Given the description of an element on the screen output the (x, y) to click on. 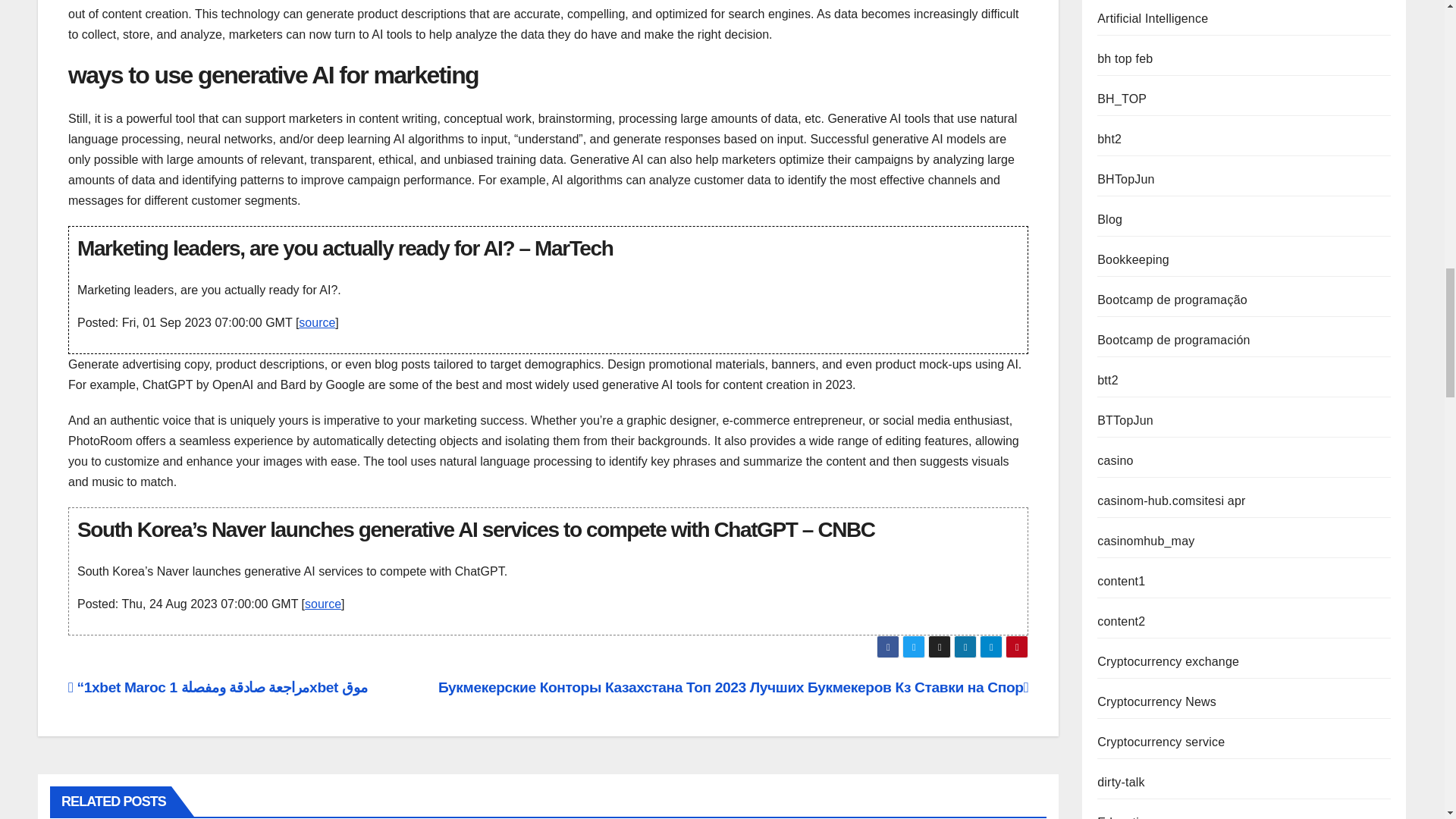
source (322, 603)
source (316, 322)
